Given the description of an element on the screen output the (x, y) to click on. 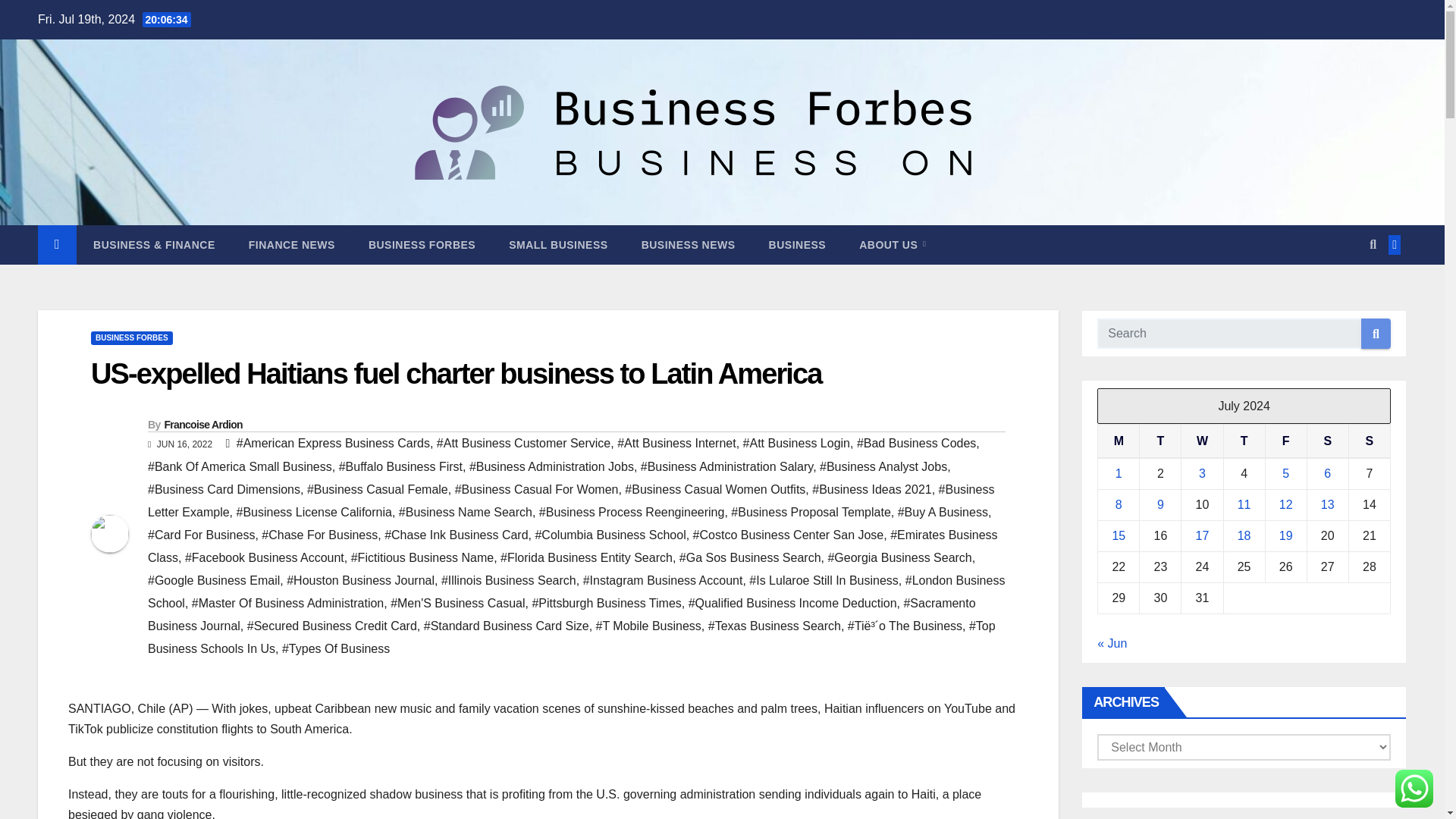
Finance News (291, 244)
Business (797, 244)
BUSINESS NEWS (688, 244)
BUSINESS (797, 244)
Business News (688, 244)
ABOUT US (892, 244)
Business Forbes (422, 244)
BUSINESS FORBES (131, 337)
BUSINESS FORBES (422, 244)
US-expelled Haitians fuel charter business to Latin America (455, 373)
FINANCE NEWS (291, 244)
Francoise Ardion (202, 424)
About Us (892, 244)
Small Business (558, 244)
